Given the description of an element on the screen output the (x, y) to click on. 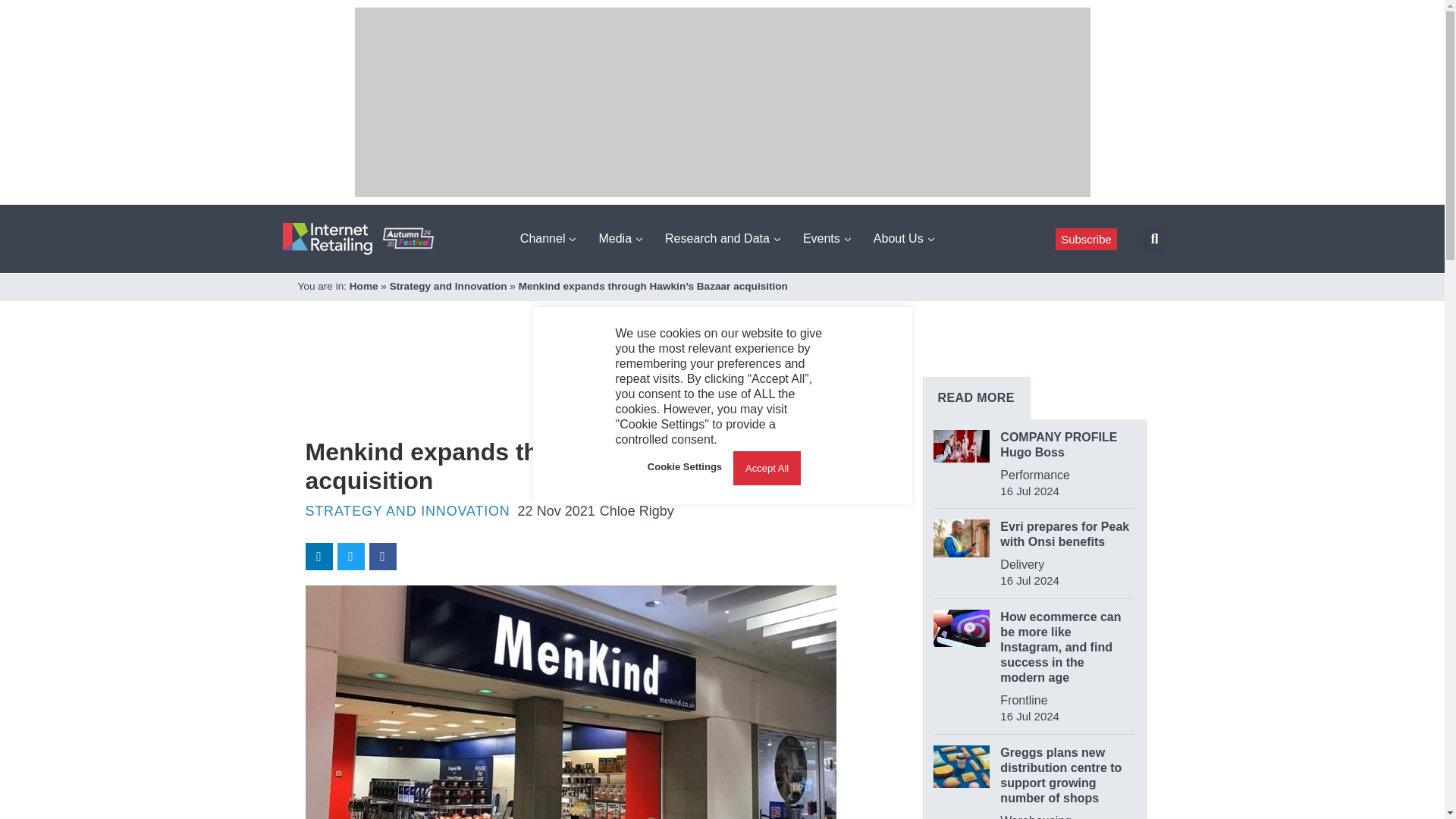
3rd party ad content (580, 387)
Research and Data (722, 238)
Media (620, 238)
Channel (547, 238)
